Given the description of an element on the screen output the (x, y) to click on. 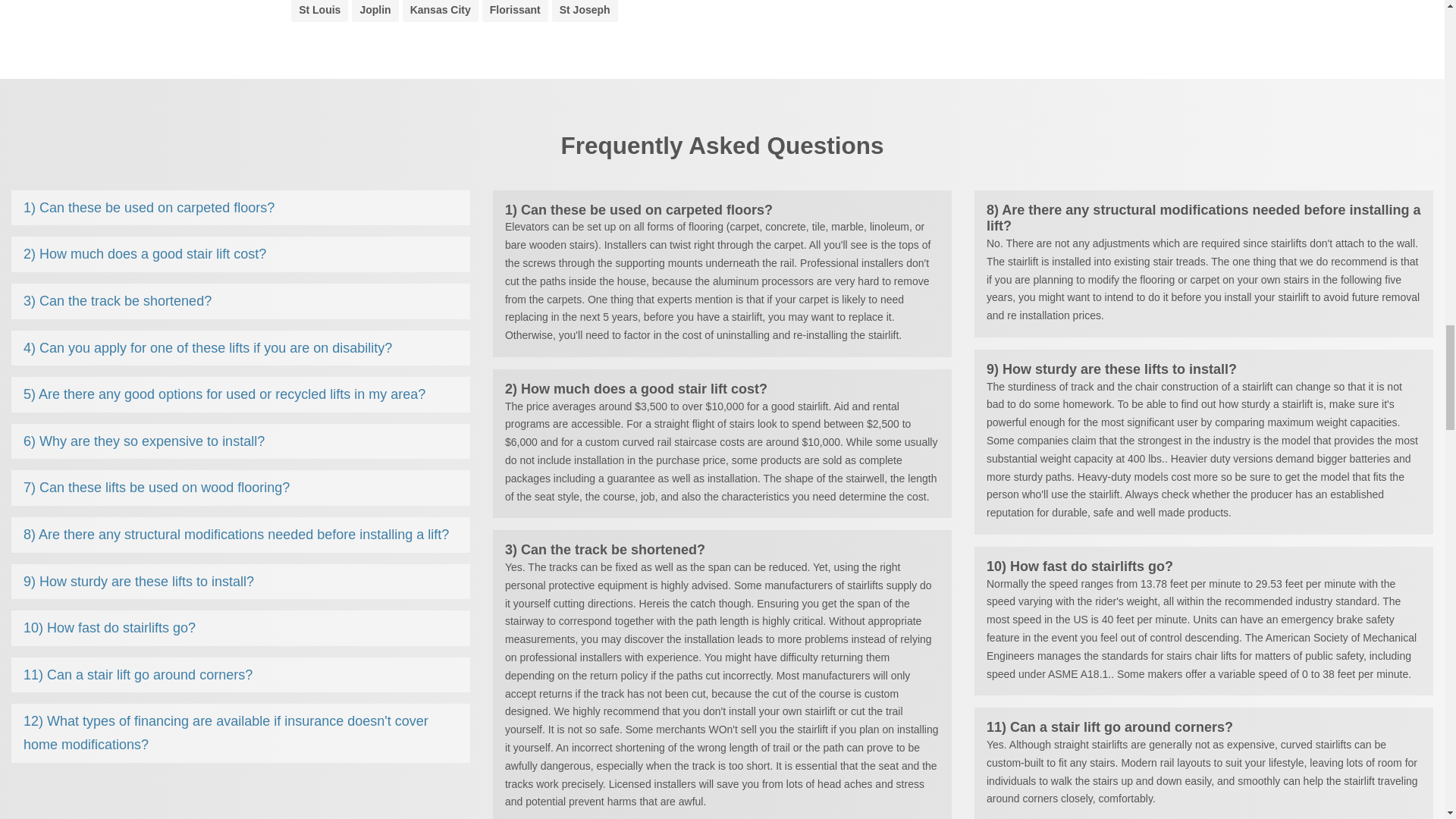
Kansas City (440, 9)
Joplin (374, 9)
St Louis (319, 9)
St Louis (319, 9)
Kansas City (440, 9)
St Joseph (584, 9)
Joplin (374, 9)
St Joseph (584, 9)
Florissant (514, 9)
Florissant (514, 9)
